Given the description of an element on the screen output the (x, y) to click on. 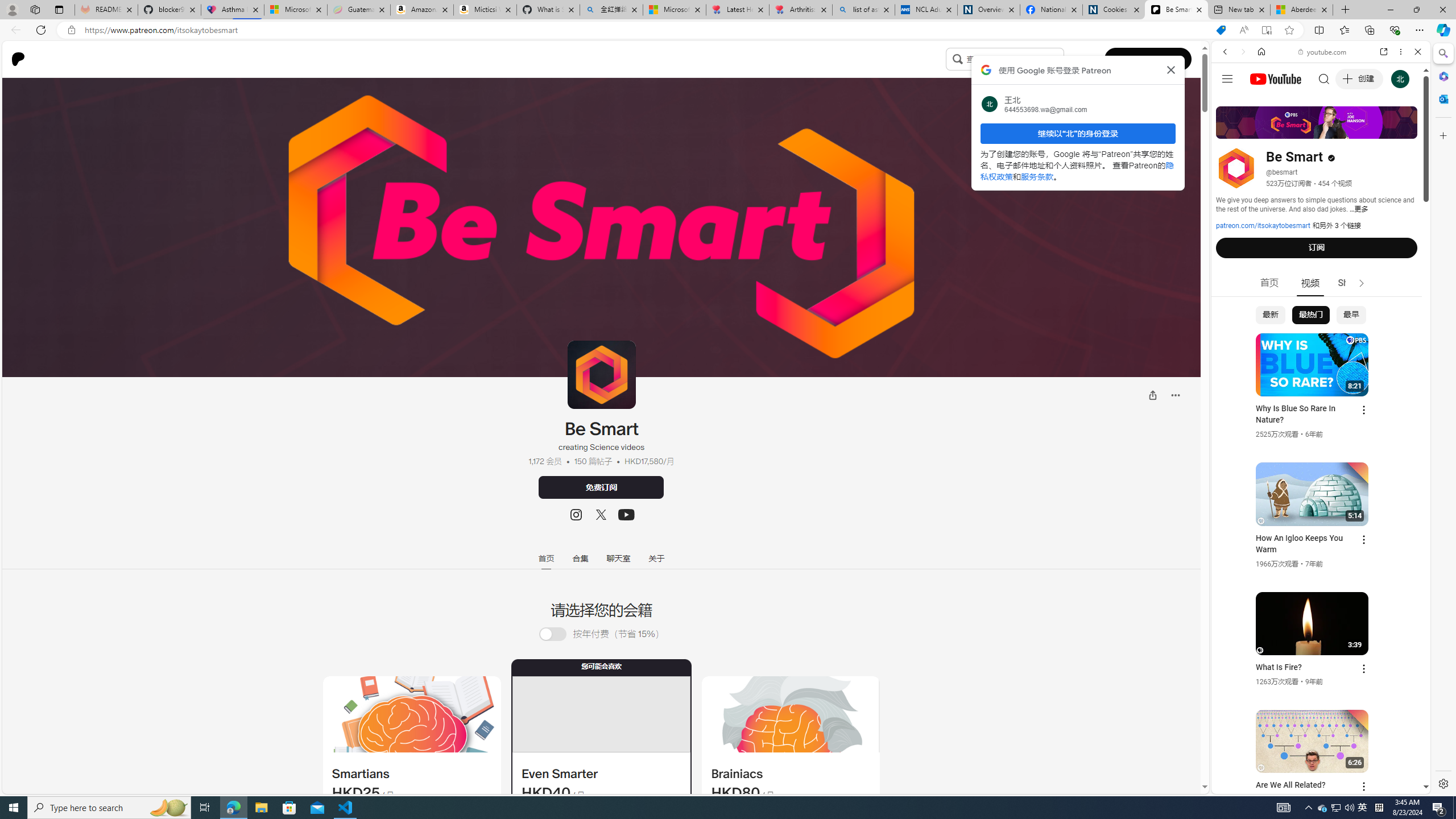
patreon.com/itsokaytobesmart (1262, 225)
WEB   (1230, 130)
Preferences (1403, 129)
Search the web (1326, 78)
Trailer #2 [HD] (1320, 336)
Search Filter, IMAGES (1262, 129)
